Given the description of an element on the screen output the (x, y) to click on. 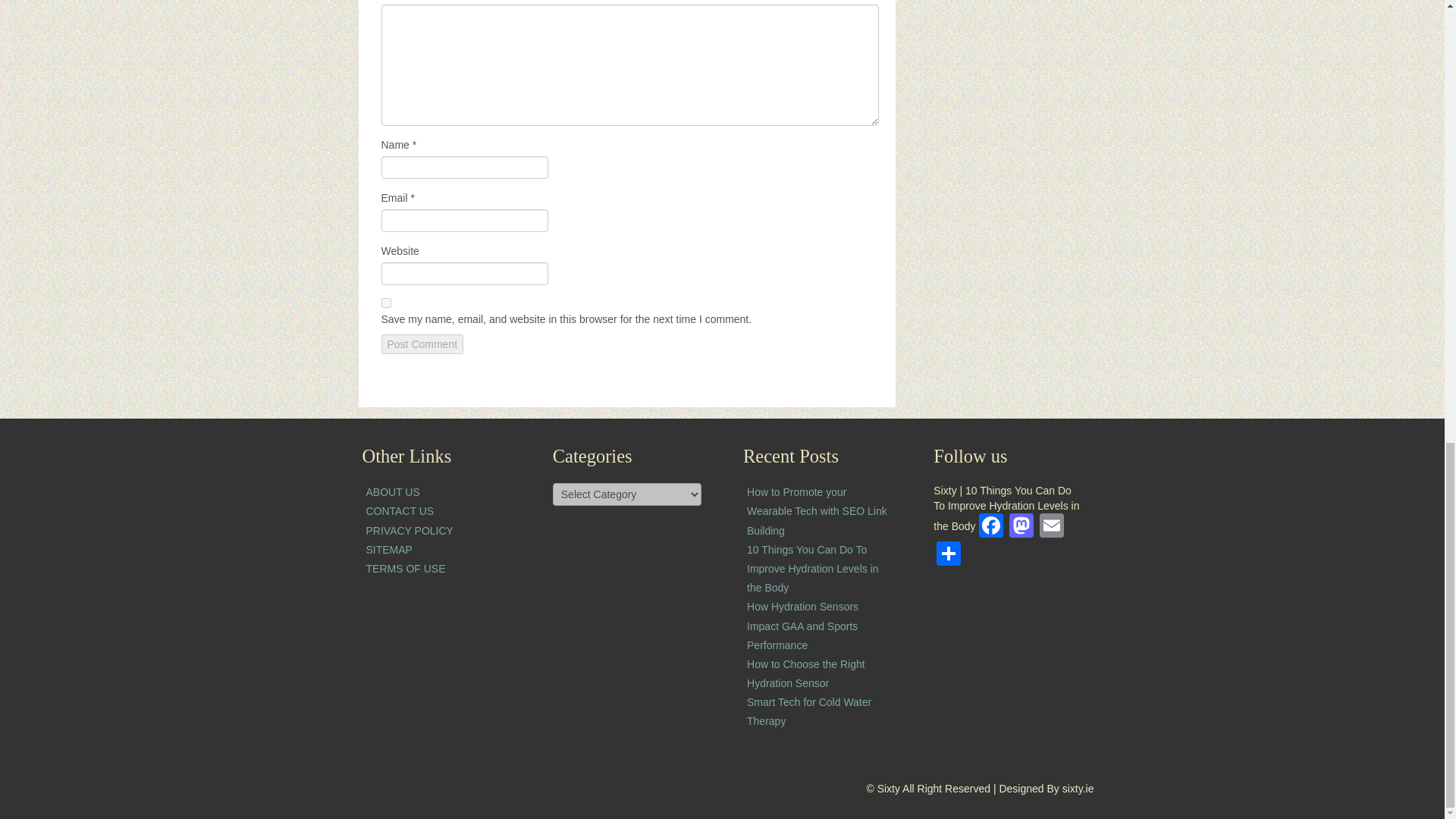
Mastodon (1021, 527)
How to Choose the Right Hydration Sensor (805, 673)
ABOUT US (392, 491)
yes (385, 302)
SITEMAP (388, 549)
Facebook (990, 527)
Post Comment (421, 343)
10 Things You Can Do To Improve Hydration Levels in the Body (812, 568)
Smart Tech for Cold Water Therapy (808, 711)
CONTACT US (399, 510)
TERMS OF USE (405, 568)
Facebook (990, 527)
PRIVACY POLICY (408, 530)
How Hydration Sensors Impact GAA and Sports Performance (802, 625)
How to Promote your Wearable Tech with SEO Link Building (816, 511)
